Given the description of an element on the screen output the (x, y) to click on. 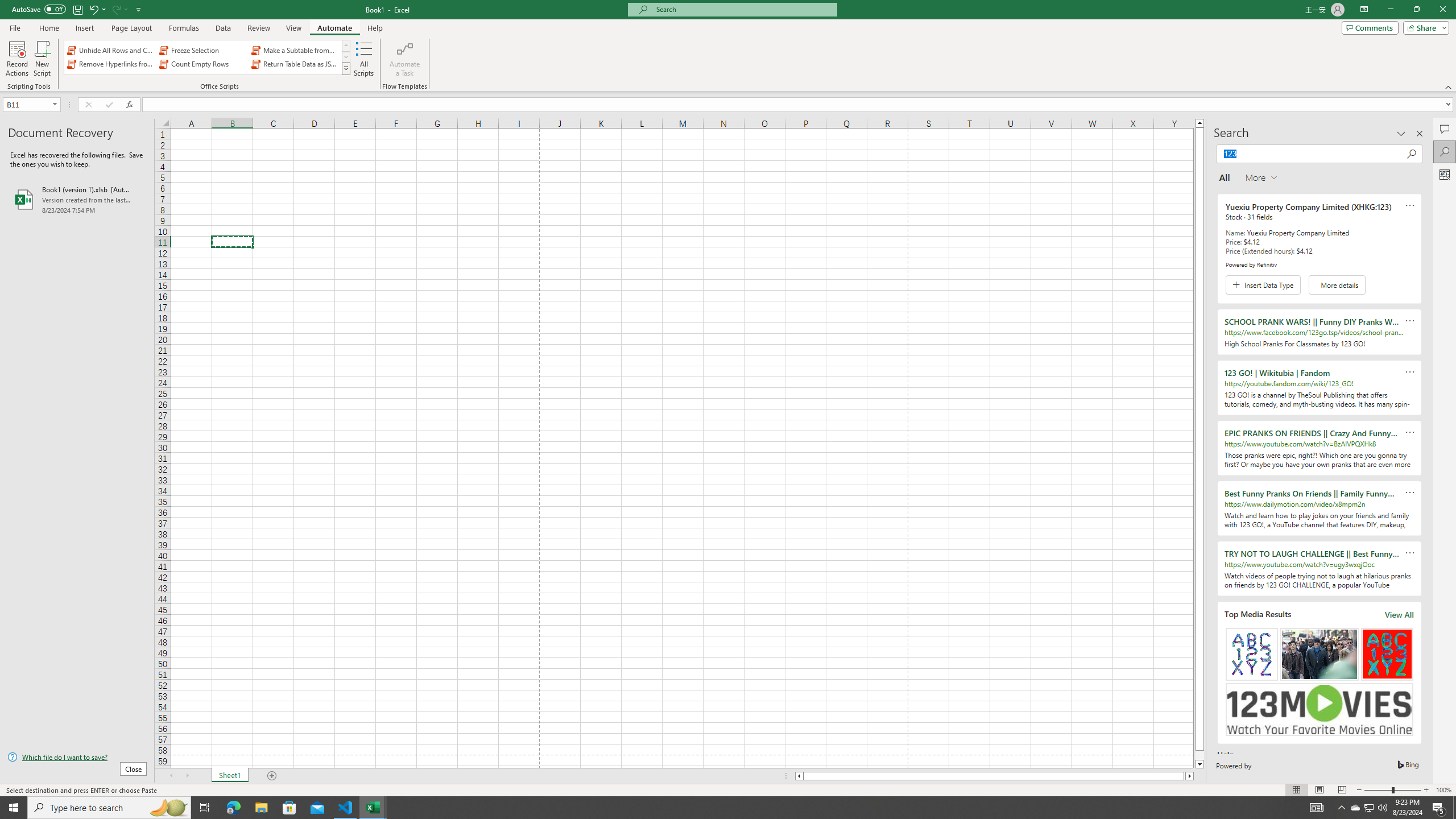
Make a Subtable from a Selection (294, 50)
Automate a Task (404, 58)
